Given the description of an element on the screen output the (x, y) to click on. 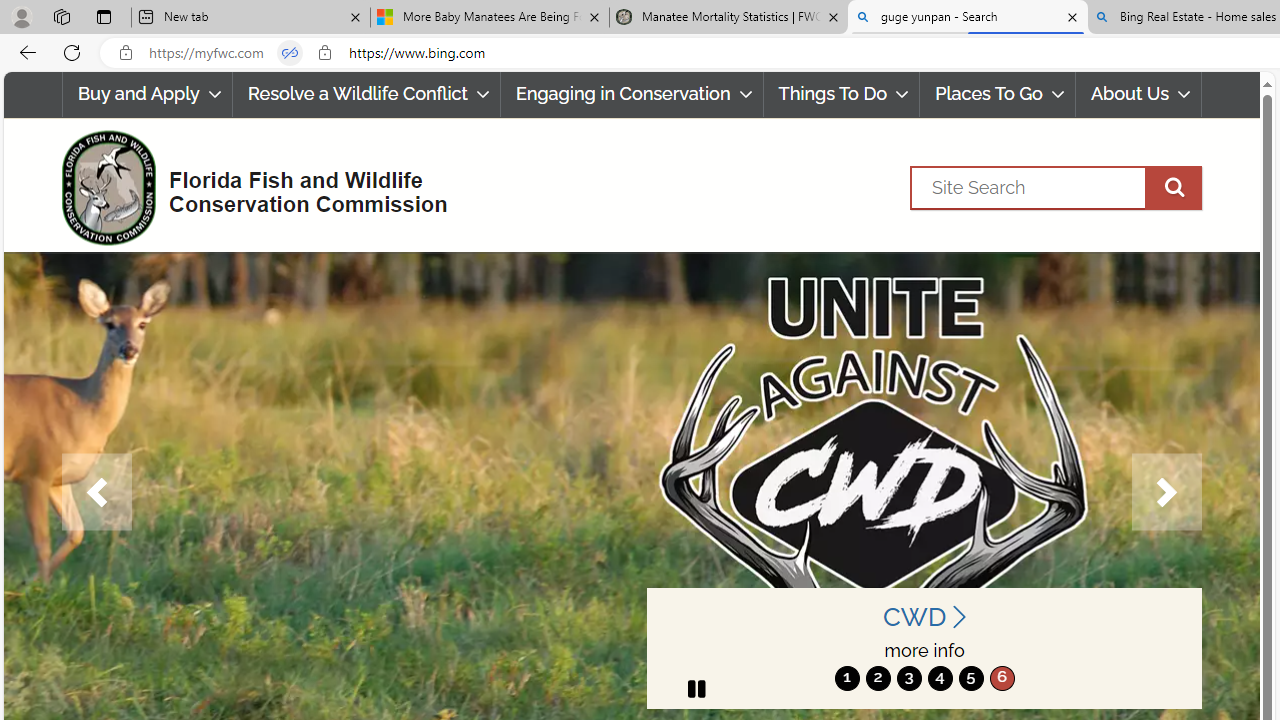
move to slide 6 (1002, 678)
move to slide 5 (970, 678)
1 (847, 678)
About Us (1138, 94)
Refresh (72, 52)
CWD  (924, 616)
Buy and Apply (146, 94)
Manatee Mortality Statistics | FWC (729, 17)
Close tab (1072, 16)
Things To Do (841, 94)
Personal Profile (21, 16)
Places To Go (998, 94)
move to slide 2 (877, 678)
About Us (1139, 94)
New tab (250, 17)
